Given the description of an element on the screen output the (x, y) to click on. 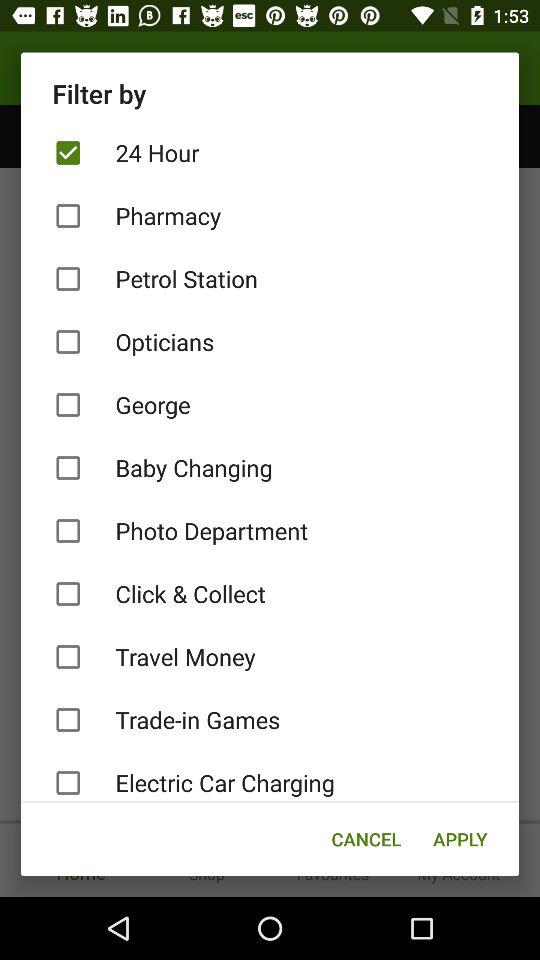
launch the travel money icon (270, 656)
